Given the description of an element on the screen output the (x, y) to click on. 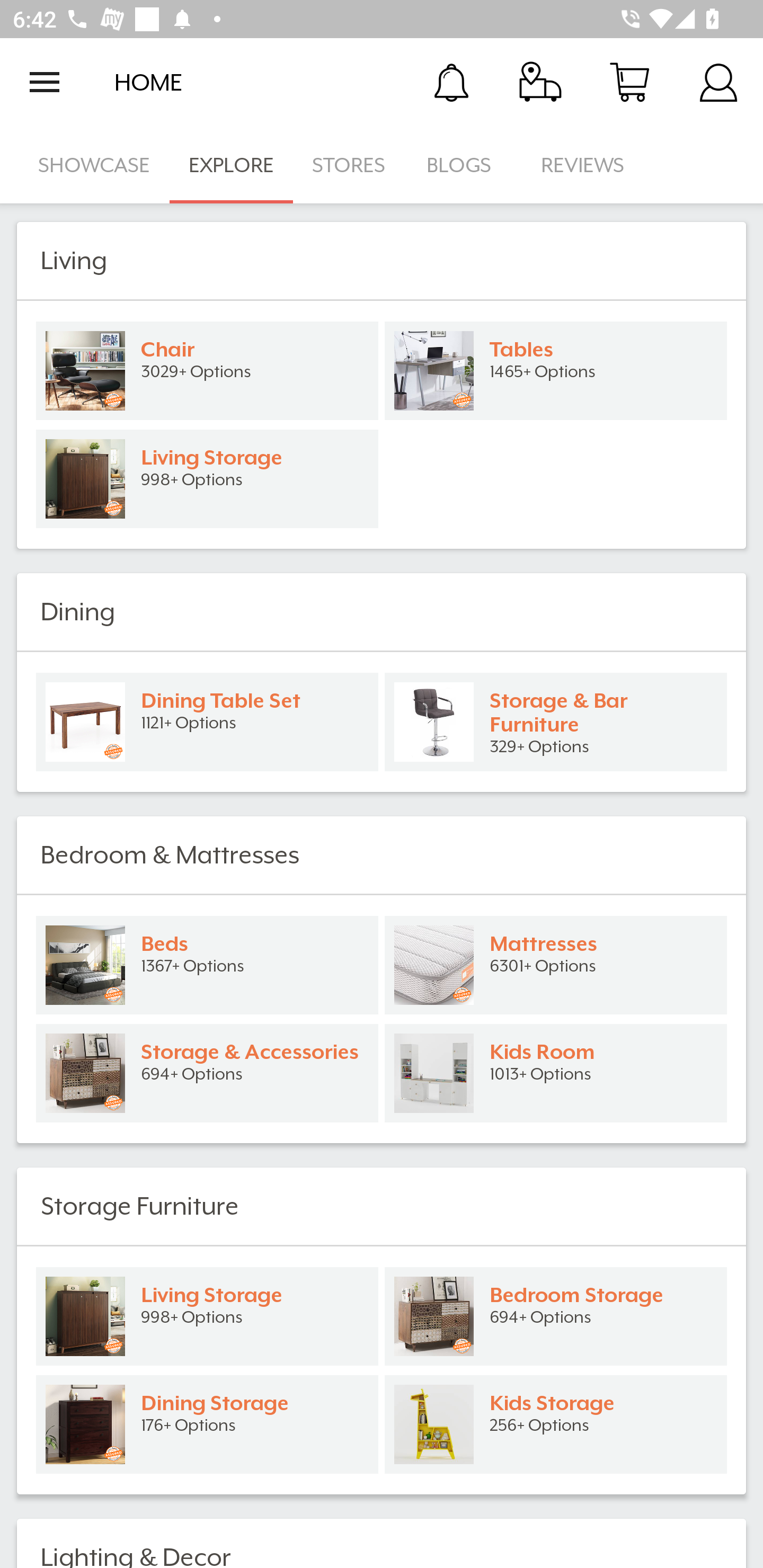
Open navigation drawer (44, 82)
Notification (450, 81)
Track Order (540, 81)
Cart (629, 81)
Account Details (718, 81)
SHOWCASE (94, 165)
EXPLORE (230, 165)
STORES (349, 165)
BLOGS (464, 165)
REVIEWS (582, 165)
Chair 3029+ Options (206, 370)
Tables 1465+ Options (555, 370)
Living Storage 998+ Options (206, 478)
Dining Table Set 1121+ Options (206, 721)
Storage & Bar Furniture 329+ Options (555, 721)
Beds 1367+ Options (206, 965)
Mattresses 6301+ Options (555, 965)
Storage & Accessories 694+ Options (206, 1073)
Kids Room 1013+ Options (555, 1073)
Living Storage 998+ Options (206, 1316)
Bedroom Storage 694+ Options (555, 1316)
Dining Storage 176+ Options (206, 1424)
Kids Storage 256+ Options (555, 1424)
